Given the description of an element on the screen output the (x, y) to click on. 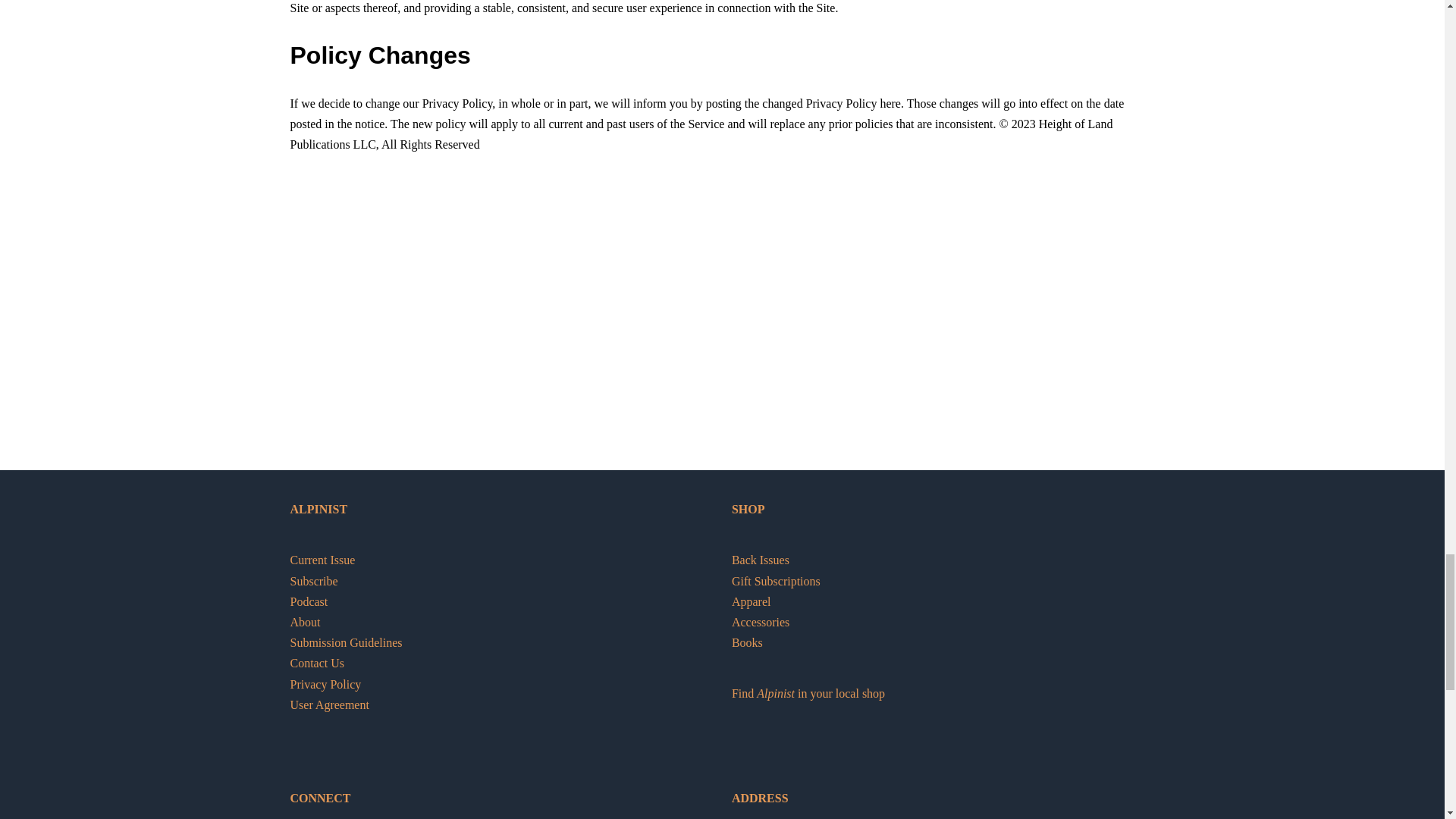
Current Issue (322, 559)
Contact Us (316, 662)
About (304, 621)
Back Issues (760, 559)
User Agreement (328, 704)
Podcast (308, 601)
Privacy Policy (325, 684)
Submission Guidelines (345, 642)
Subscribe (313, 581)
Gift Subscriptions (776, 581)
